Given the description of an element on the screen output the (x, y) to click on. 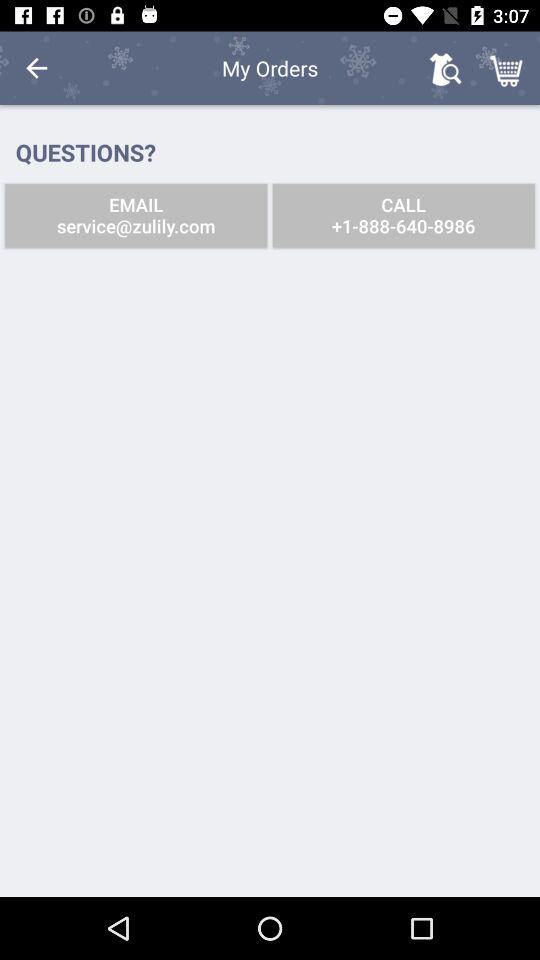
open icon to the left of the my orders (36, 68)
